Given the description of an element on the screen output the (x, y) to click on. 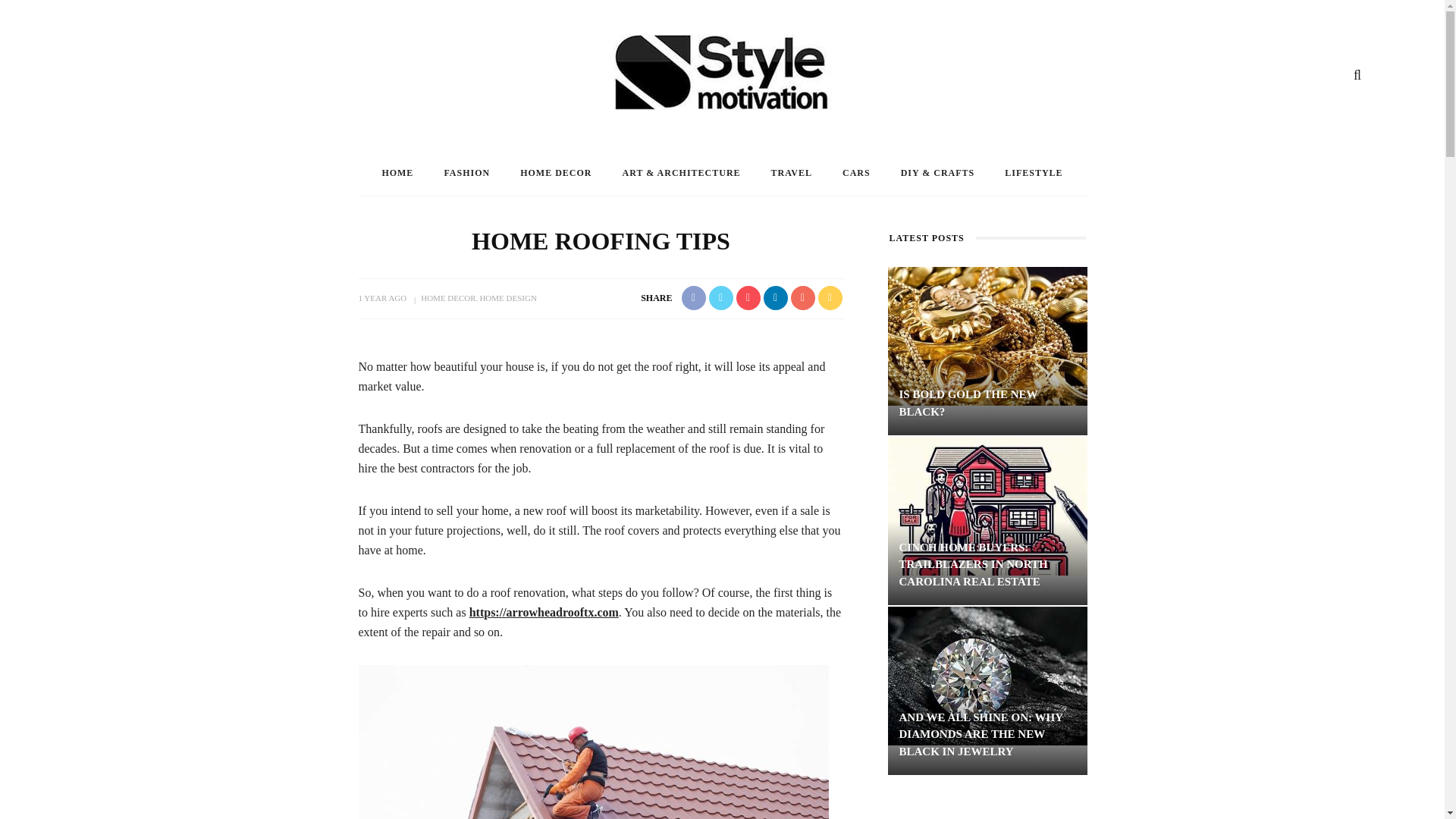
Home Roofing Tips (593, 742)
LIFESTYLE (1033, 172)
HOME DECOR (556, 172)
CARS (856, 172)
HOME (397, 172)
TRAVEL (791, 172)
HOME DESIGN (506, 297)
HOME DECOR (448, 297)
FASHION (466, 172)
